Given the description of an element on the screen output the (x, y) to click on. 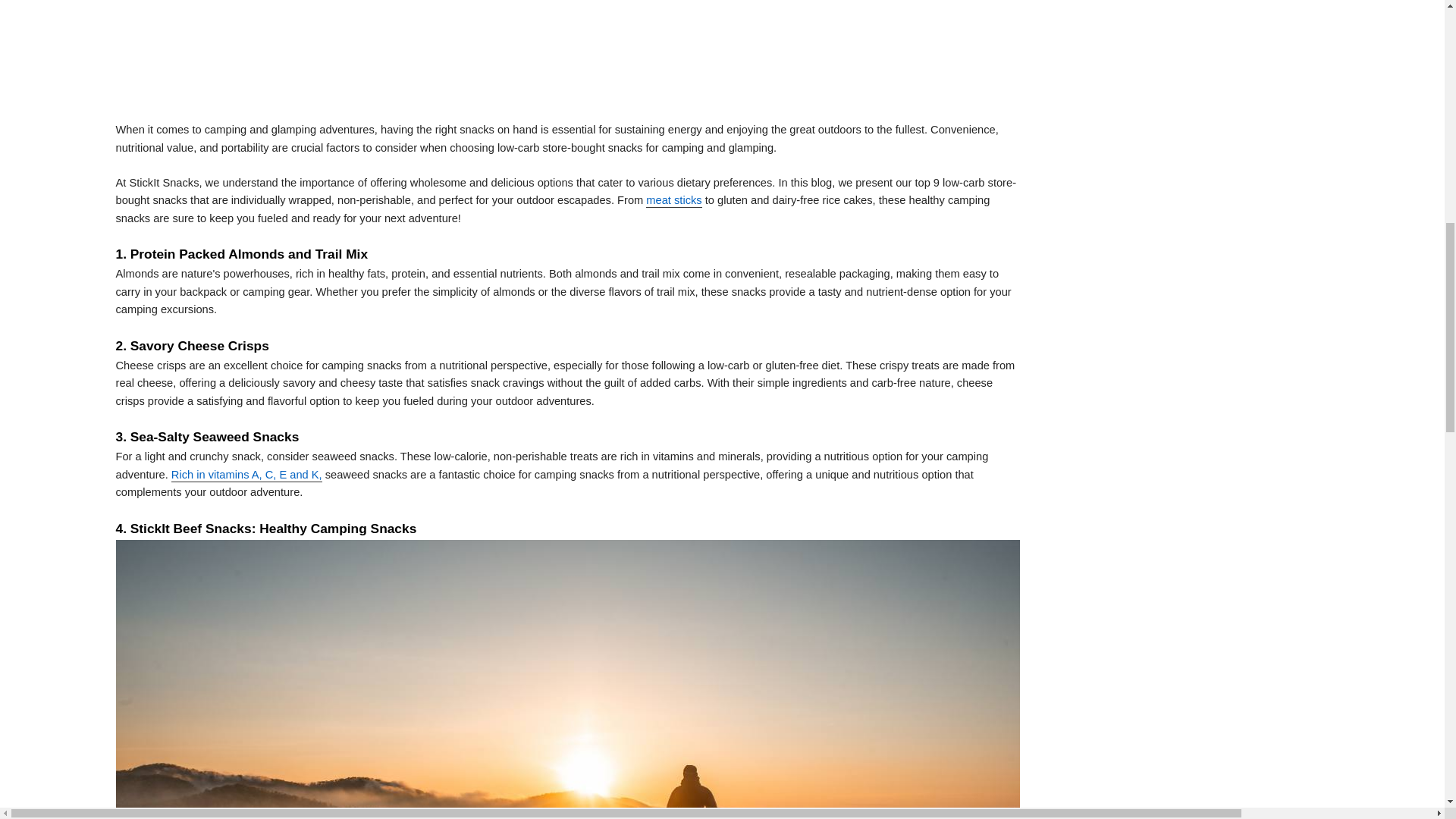
Forbes - Seaweed Health Benefits (246, 475)
meat sticks (673, 201)
Rich in vitamins A, C, E and K, (246, 475)
StickIt Snacks - Shop All Beef Sticks (673, 201)
